Given the description of an element on the screen output the (x, y) to click on. 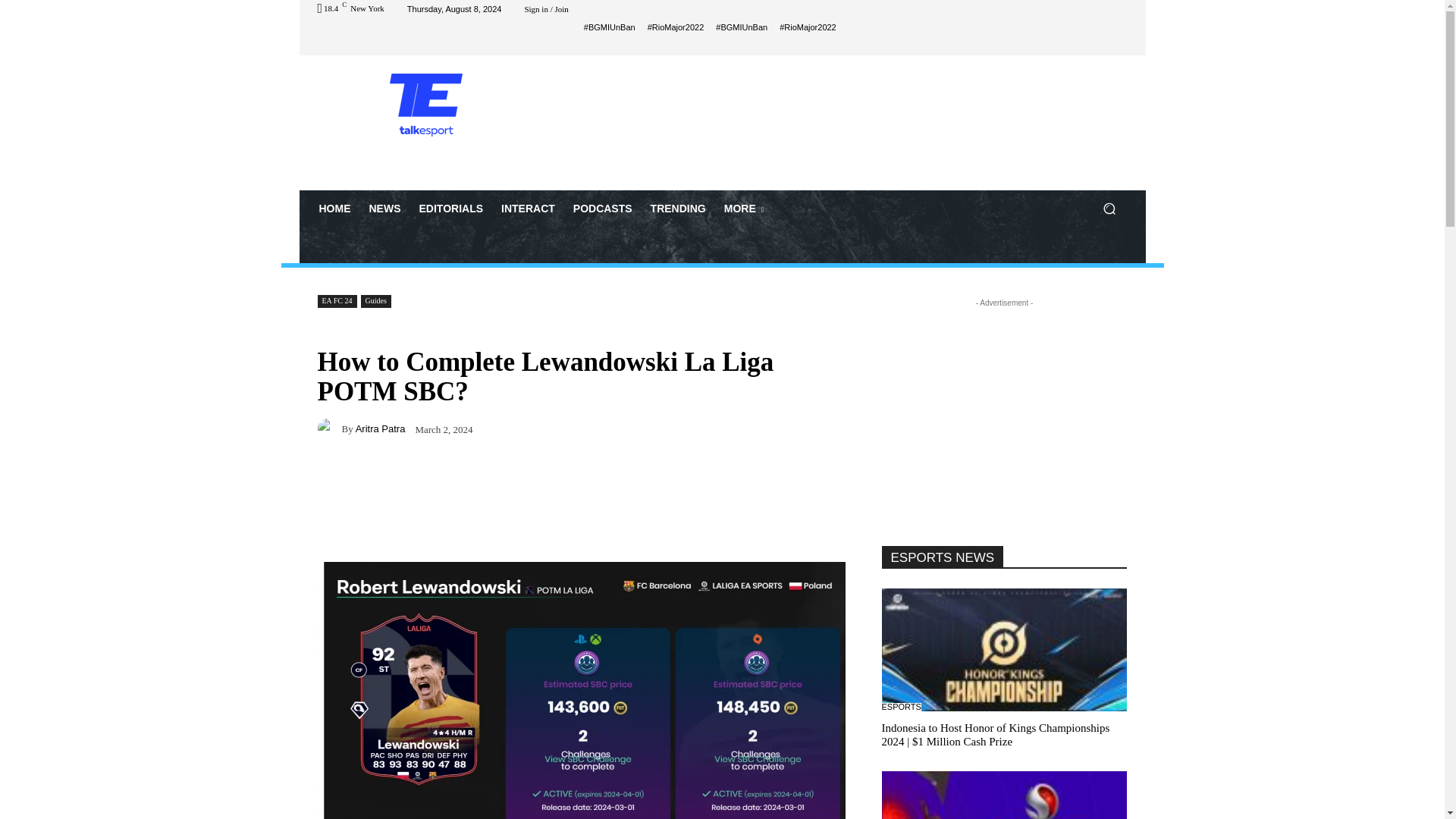
Advertisement (849, 121)
PODCASTS (603, 208)
TRENDING (678, 208)
HOME (333, 208)
EDITORIALS (450, 208)
NEWS (384, 208)
INTERACT (528, 208)
Aritra Patra (328, 428)
